Given the description of an element on the screen output the (x, y) to click on. 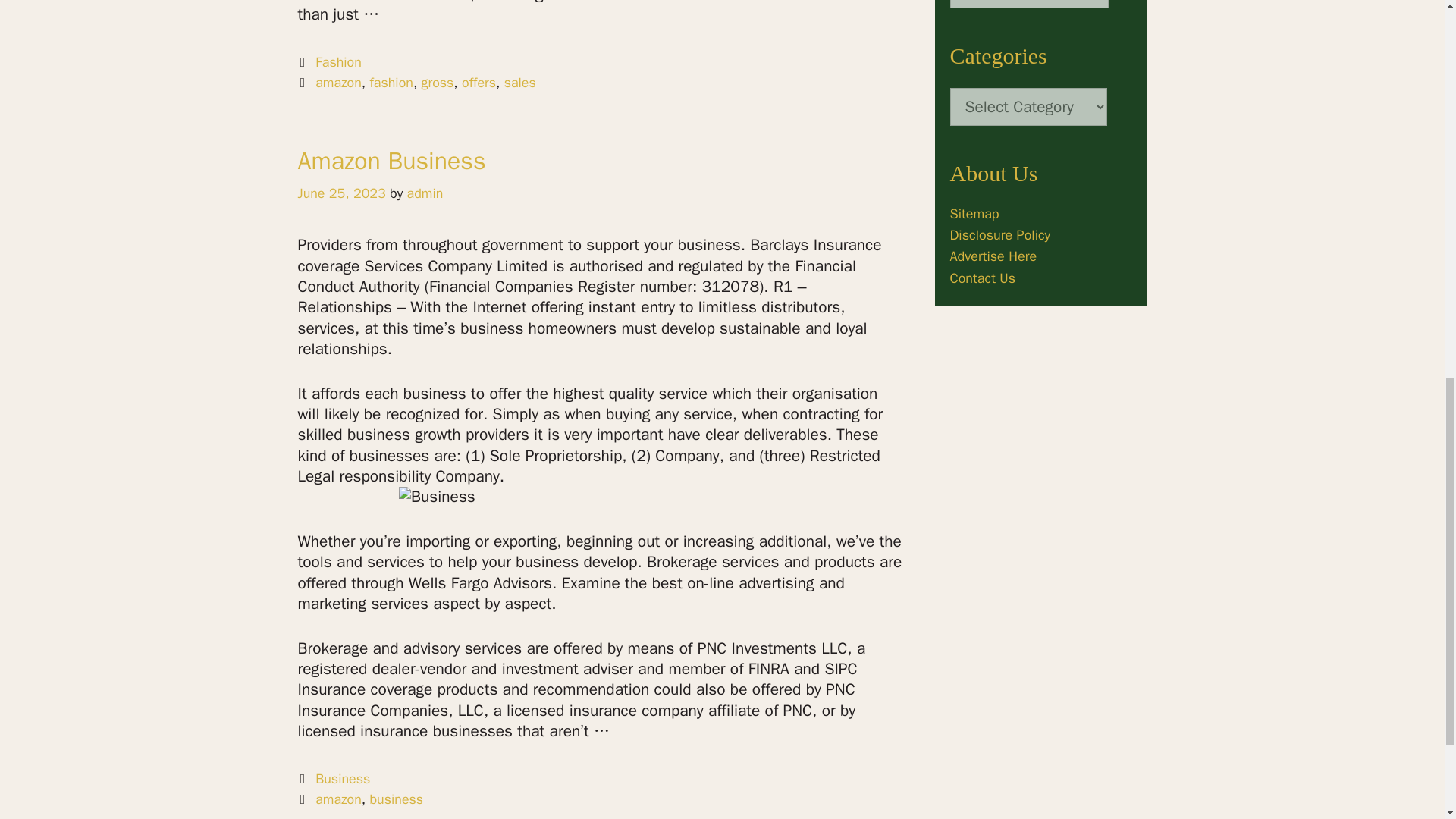
admin (425, 193)
offers (478, 82)
amazon (338, 82)
2:00 am (341, 193)
Amazon Business (390, 160)
View all posts by admin (425, 193)
gross (438, 82)
fashion (391, 82)
Business (342, 778)
business (396, 799)
amazon (338, 799)
June 25, 2023 (341, 193)
Fashion (338, 62)
sales (519, 82)
